Given the description of an element on the screen output the (x, y) to click on. 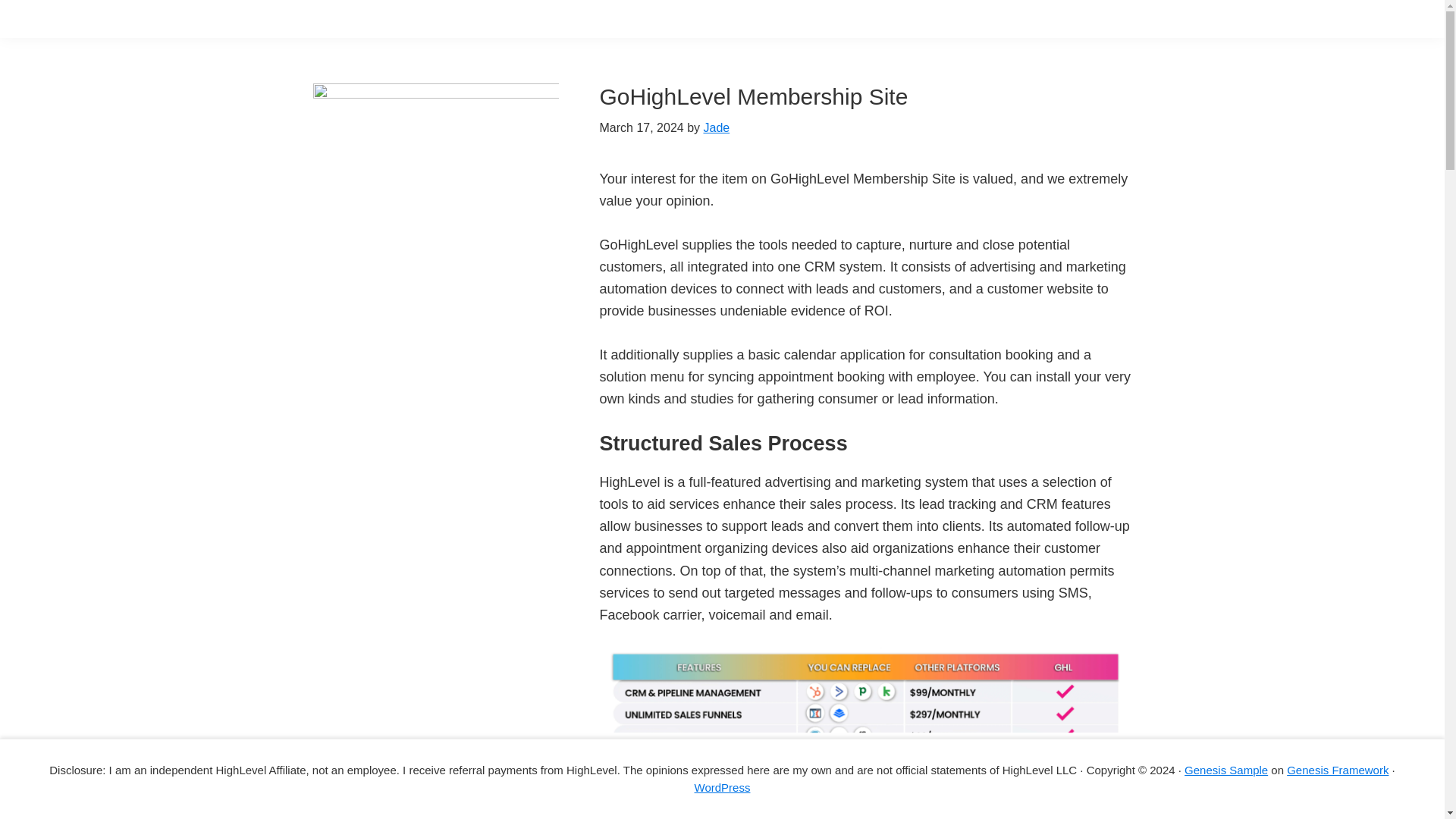
Jade (716, 127)
Genesis Sample (1226, 769)
WordPress (722, 787)
Genesis Framework (1338, 769)
